Given the description of an element on the screen output the (x, y) to click on. 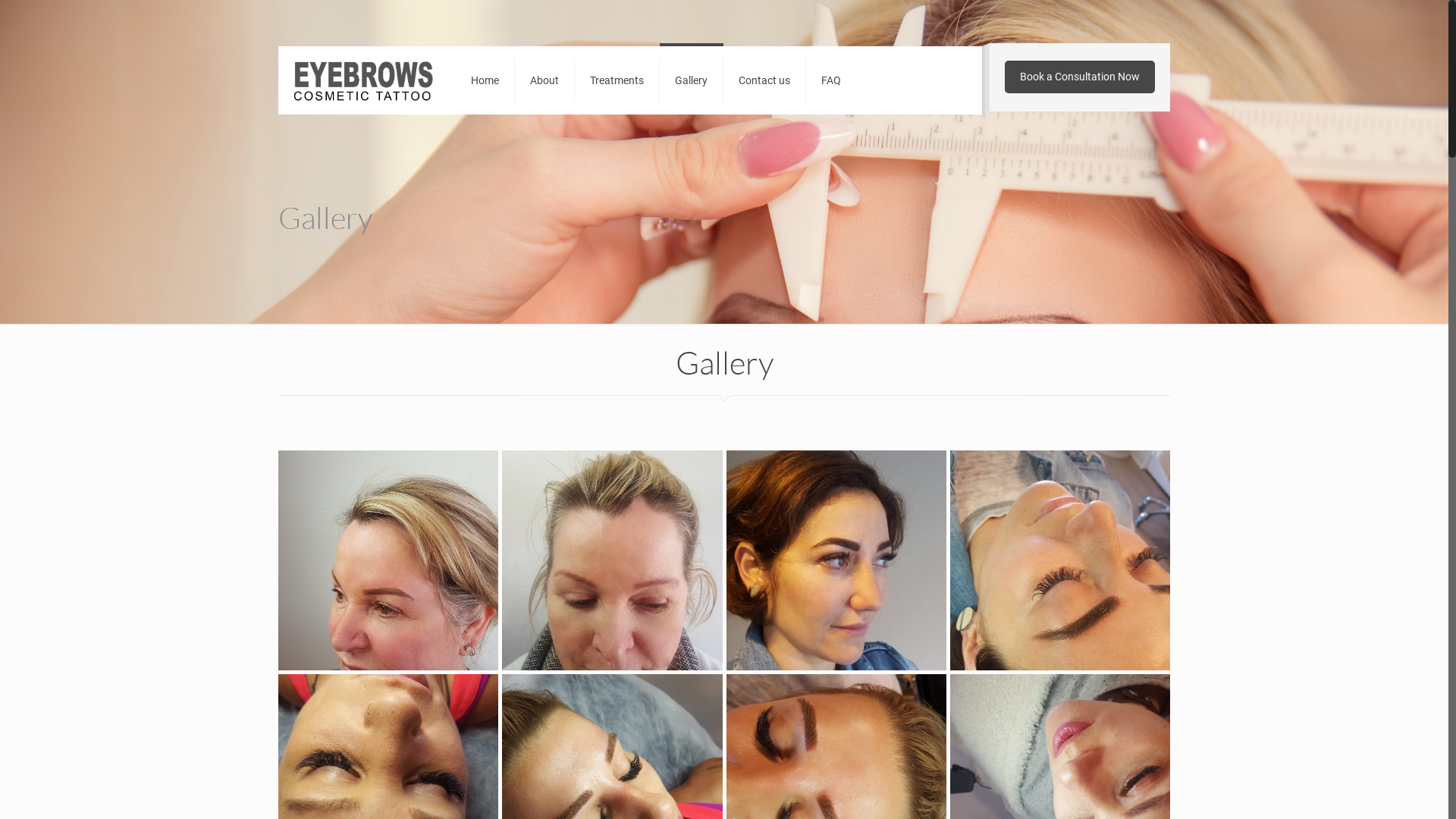
Gallery Element type: text (691, 80)
Alionabeau Element type: hover (836, 560)
Aliona1 Element type: hover (1060, 560)
Gale after Element type: hover (388, 560)
Treatments Element type: text (616, 80)
Home Element type: text (484, 80)
FAQ Element type: text (831, 80)
Gale before Element type: hover (611, 560)
About Element type: text (544, 80)
Eyebrows Cosmetic Tattoo Element type: hover (363, 80)
Contact us Element type: text (764, 80)
Book a Consultation Now Element type: text (1079, 76)
